Given the description of an element on the screen output the (x, y) to click on. 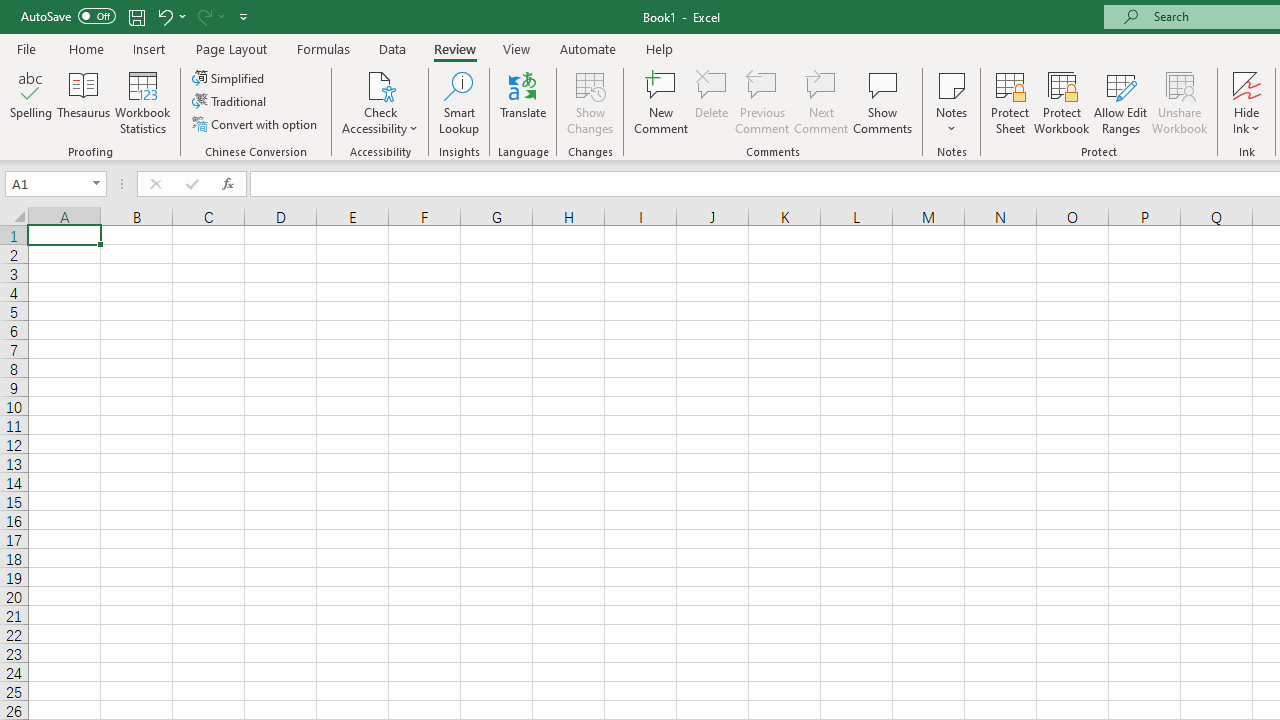
Show Changes (589, 102)
Hide Ink (1247, 84)
Next Comment (821, 102)
Show Comments (883, 102)
Workbook Statistics (142, 102)
Protect Workbook... (1061, 102)
